Given the description of an element on the screen output the (x, y) to click on. 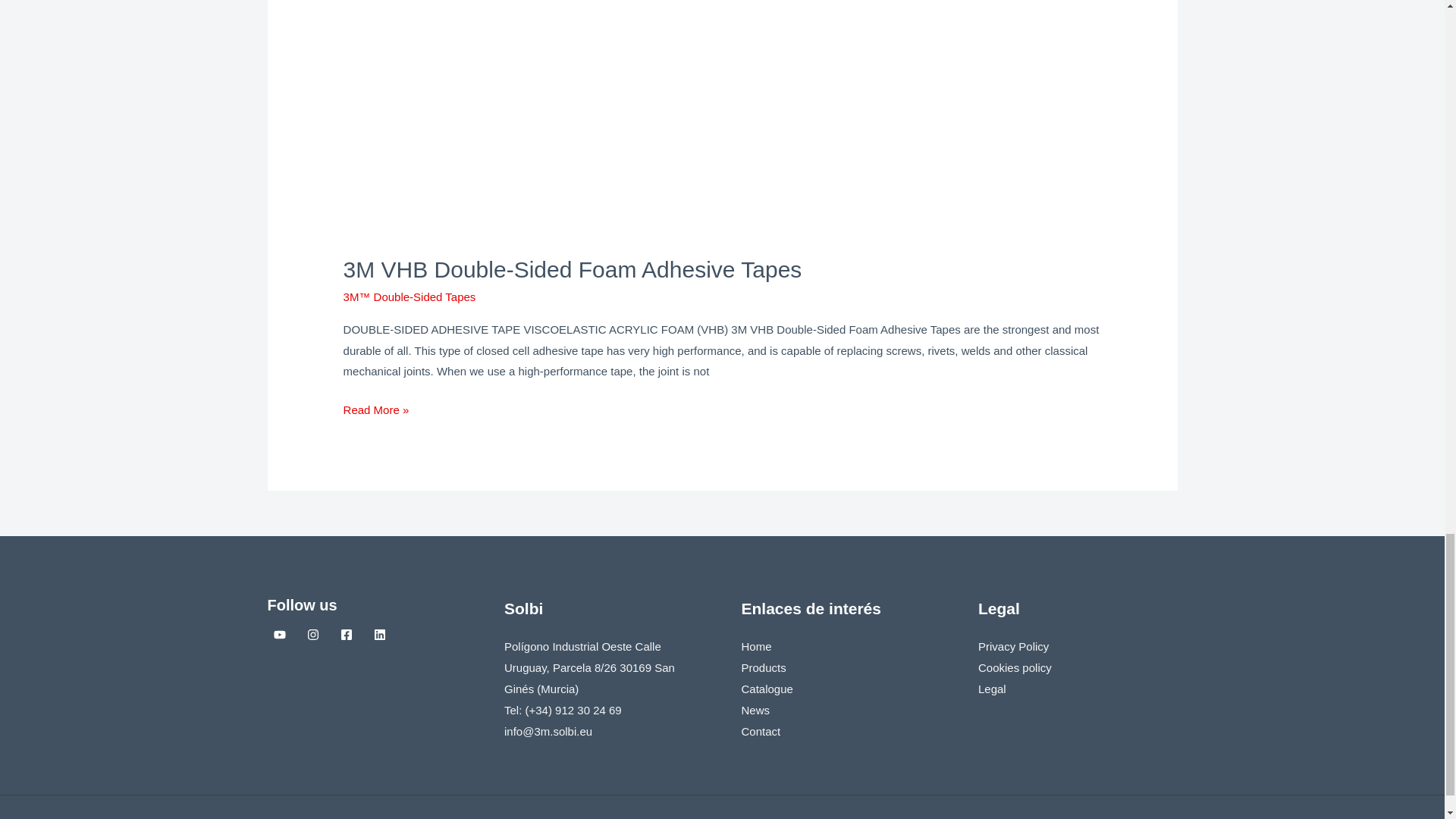
3M VHB Double-Sided Foam Adhesive Tapes (572, 269)
